Given the description of an element on the screen output the (x, y) to click on. 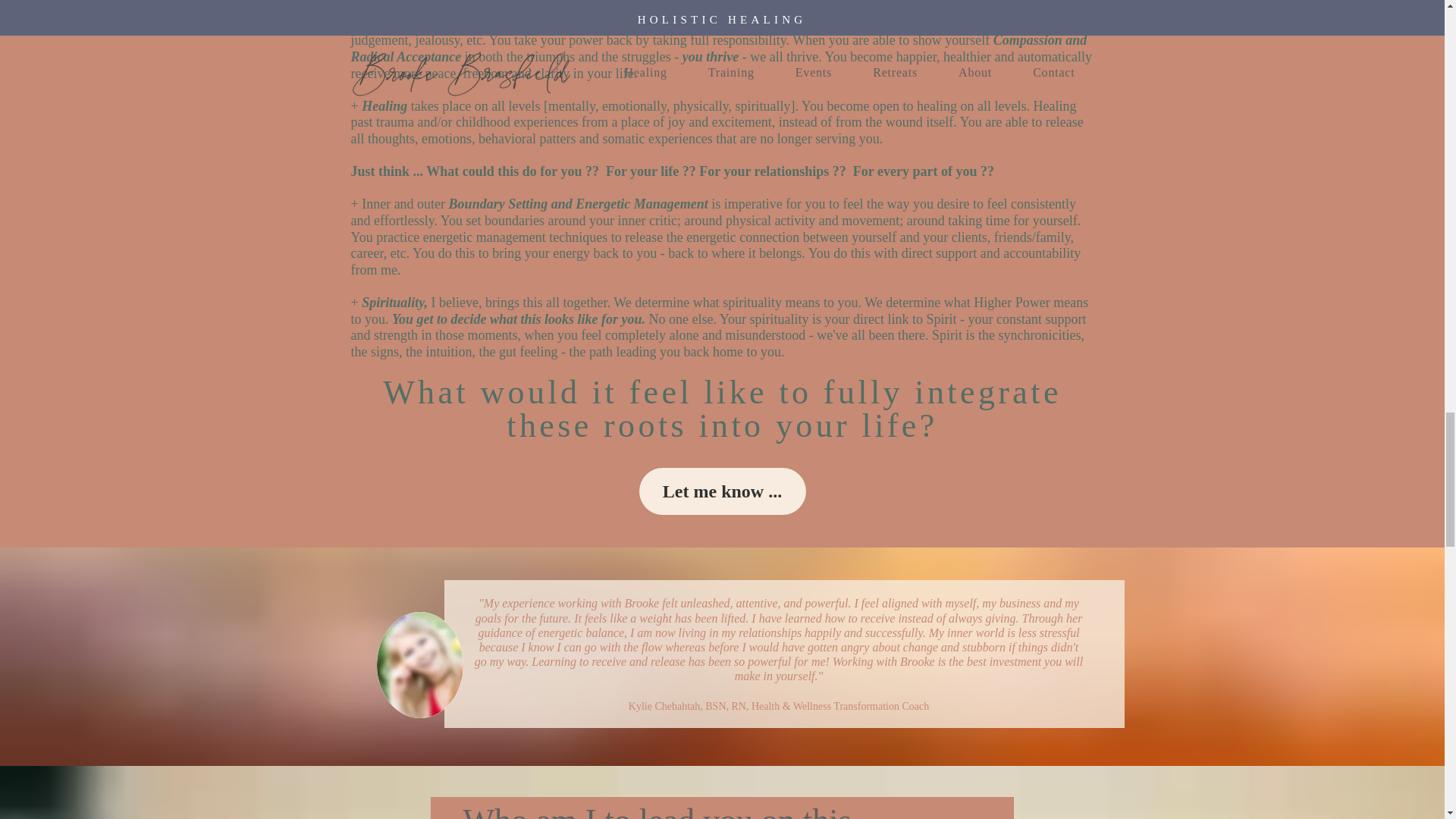
Let me know ... (722, 491)
